Given the description of an element on the screen output the (x, y) to click on. 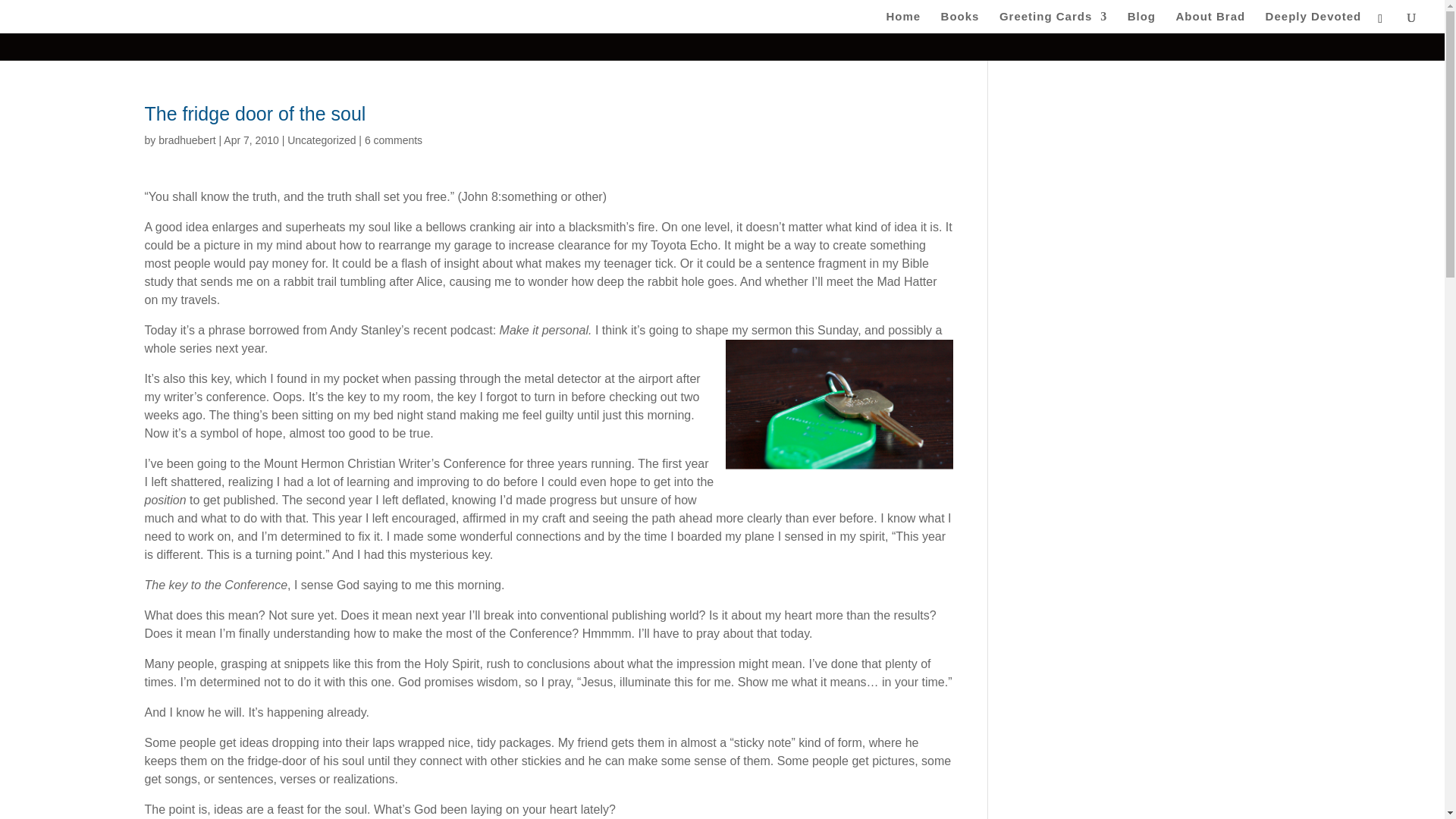
Blog (1141, 22)
Books (959, 22)
Uncategorized (320, 140)
Deeply Devoted (1313, 22)
Posts by bradhuebert (186, 140)
Home (902, 22)
bradhuebert (186, 140)
Greeting Cards (1052, 22)
6 comments (393, 140)
About Brad (1209, 22)
